Given the description of an element on the screen output the (x, y) to click on. 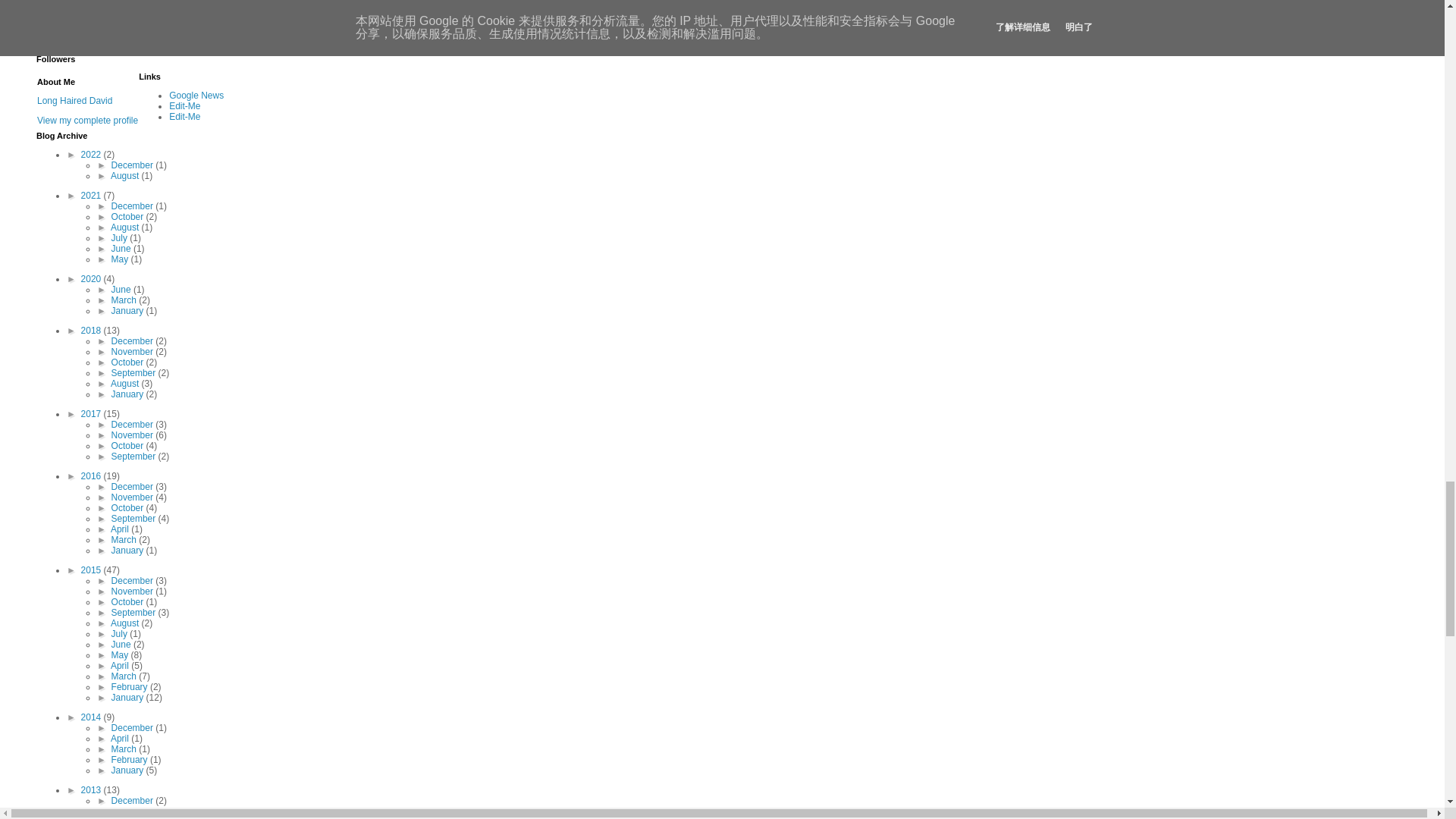
August (125, 175)
Newer Post (72, 9)
Google News (196, 95)
2021 (92, 195)
Home (171, 9)
View my complete profile (87, 120)
2022 (92, 154)
Newer Post (72, 9)
Long Haired David (74, 100)
Edit-Me (184, 105)
December (133, 164)
Older Post (126, 9)
Edit-Me (184, 116)
Older Post (126, 9)
